Given the description of an element on the screen output the (x, y) to click on. 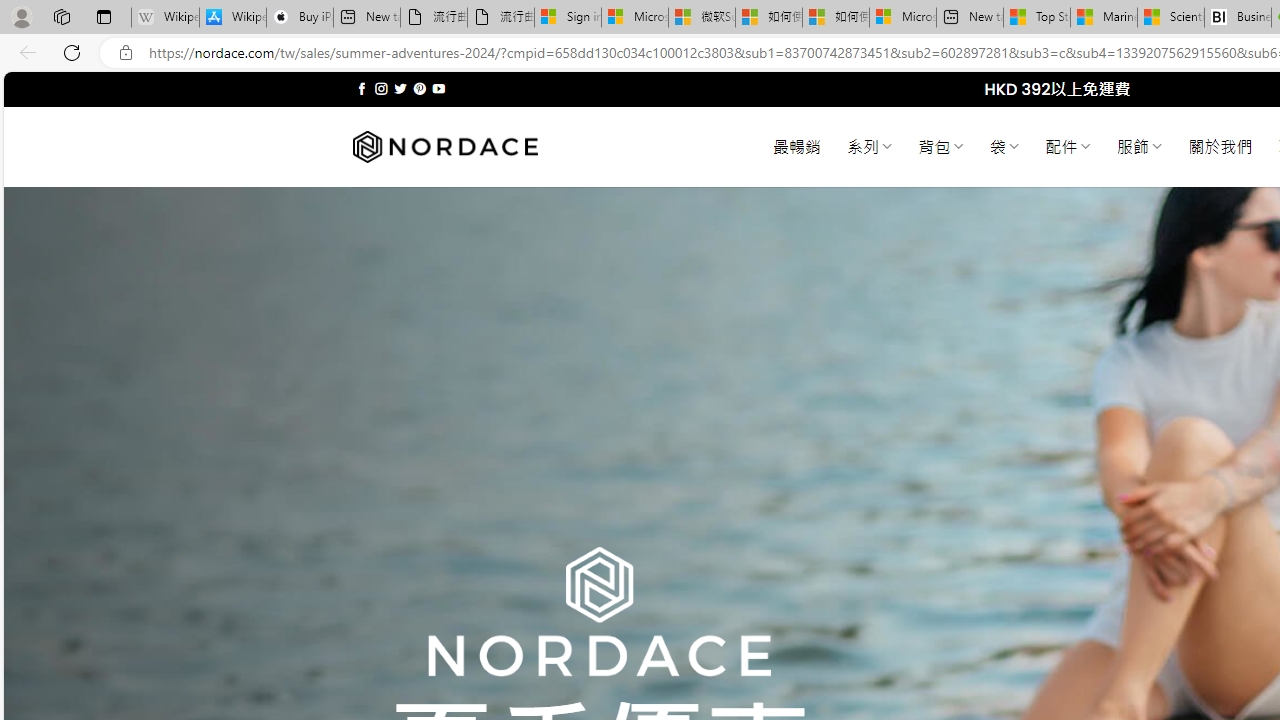
Follow on Twitter (400, 88)
Follow on Facebook (361, 88)
